Given the description of an element on the screen output the (x, y) to click on. 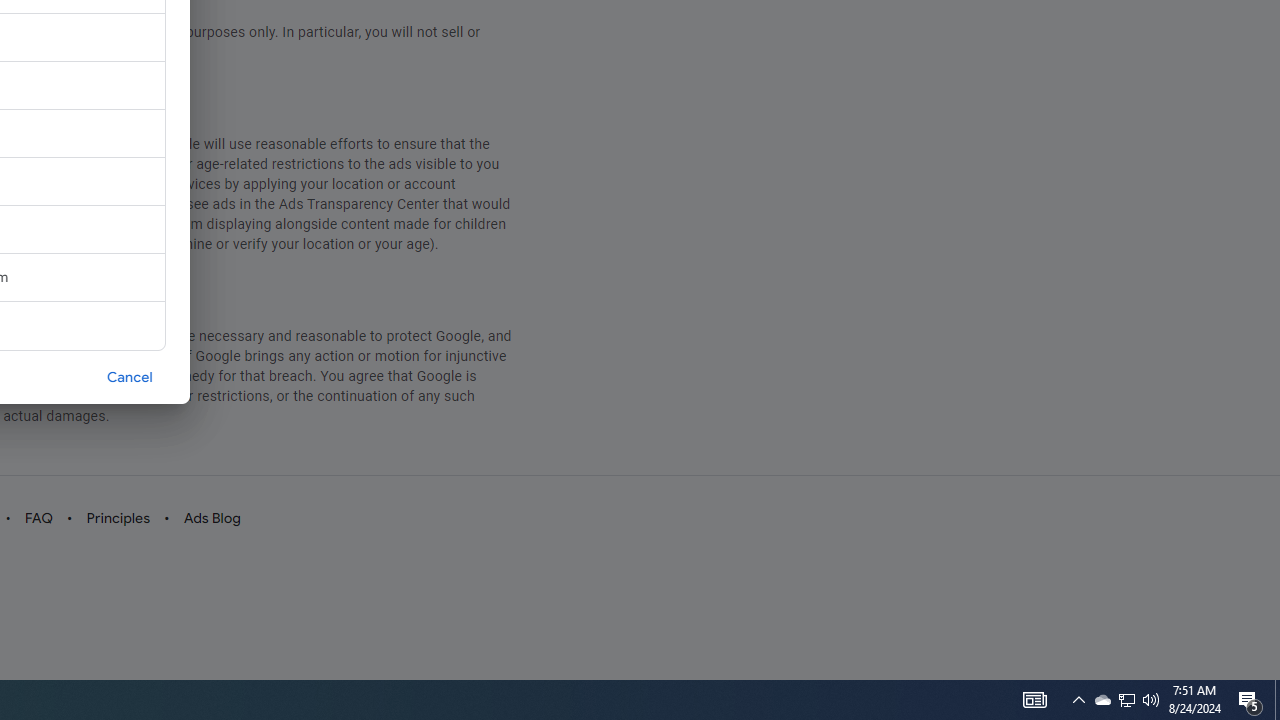
Cancel (129, 376)
FAQ (38, 518)
Ads Blog (211, 518)
Principles (117, 518)
